Given the description of an element on the screen output the (x, y) to click on. 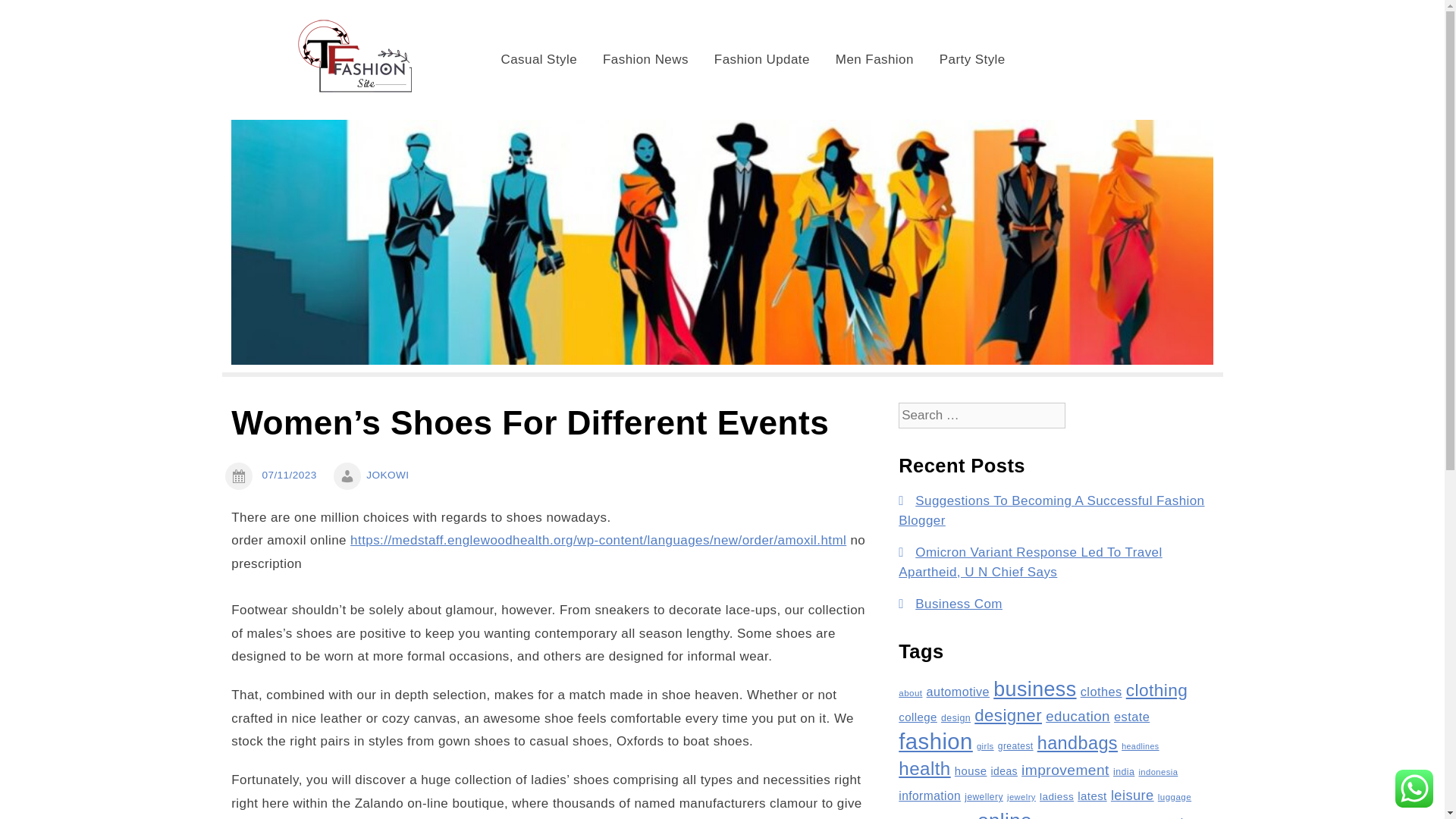
college (917, 716)
TF (487, 29)
Suggestions To Becoming A Successful Fashion Blogger (1051, 510)
Casual Style (539, 59)
clothing (1156, 690)
education (1077, 715)
Men Fashion (874, 59)
about (909, 692)
Party Style (971, 59)
